Given the description of an element on the screen output the (x, y) to click on. 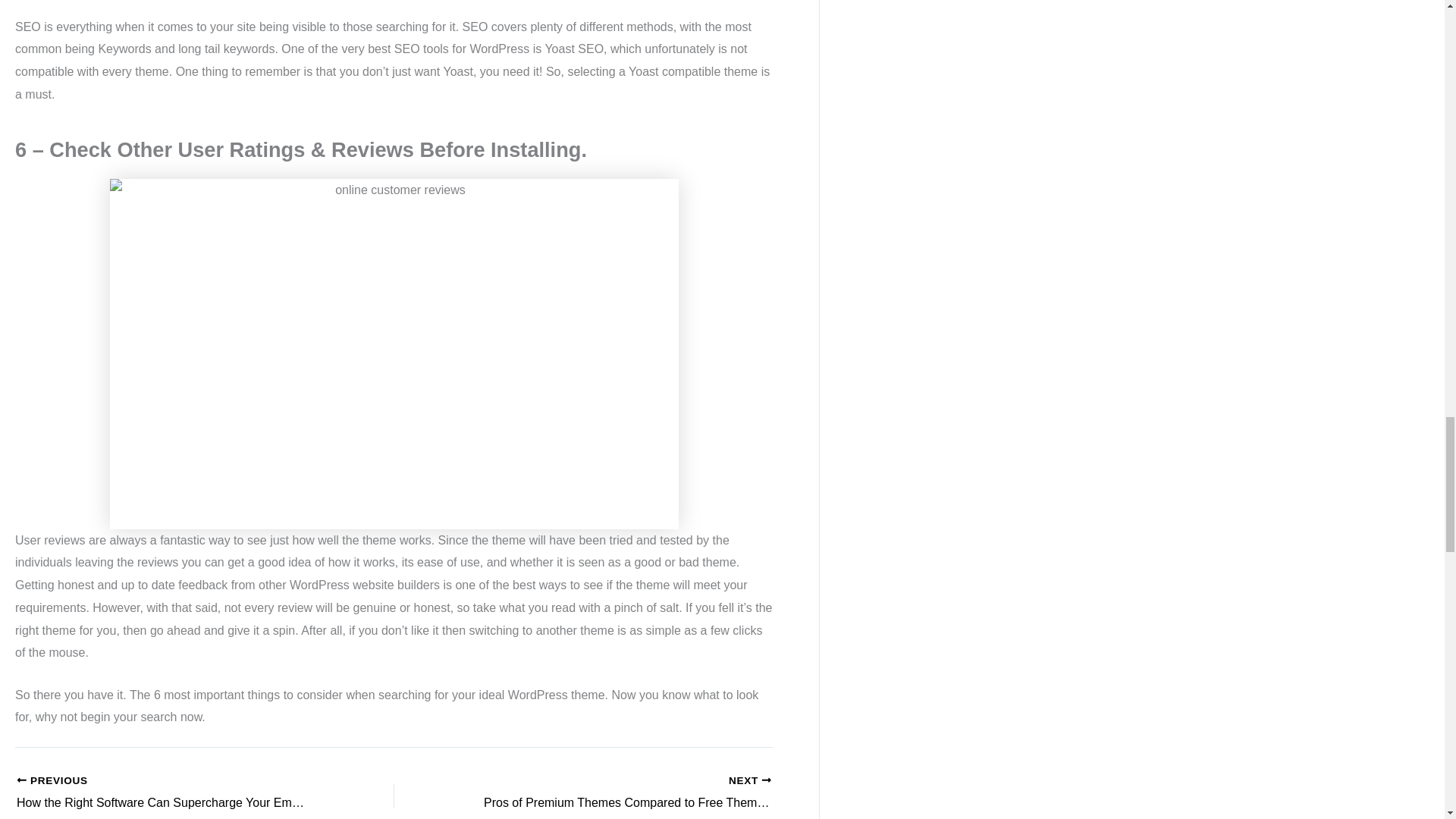
How the Right Software Can Supercharge Your Email Marketing (168, 793)
Pros of Premium Themes Compared to Free Themes in WordPress (619, 793)
